Given the description of an element on the screen output the (x, y) to click on. 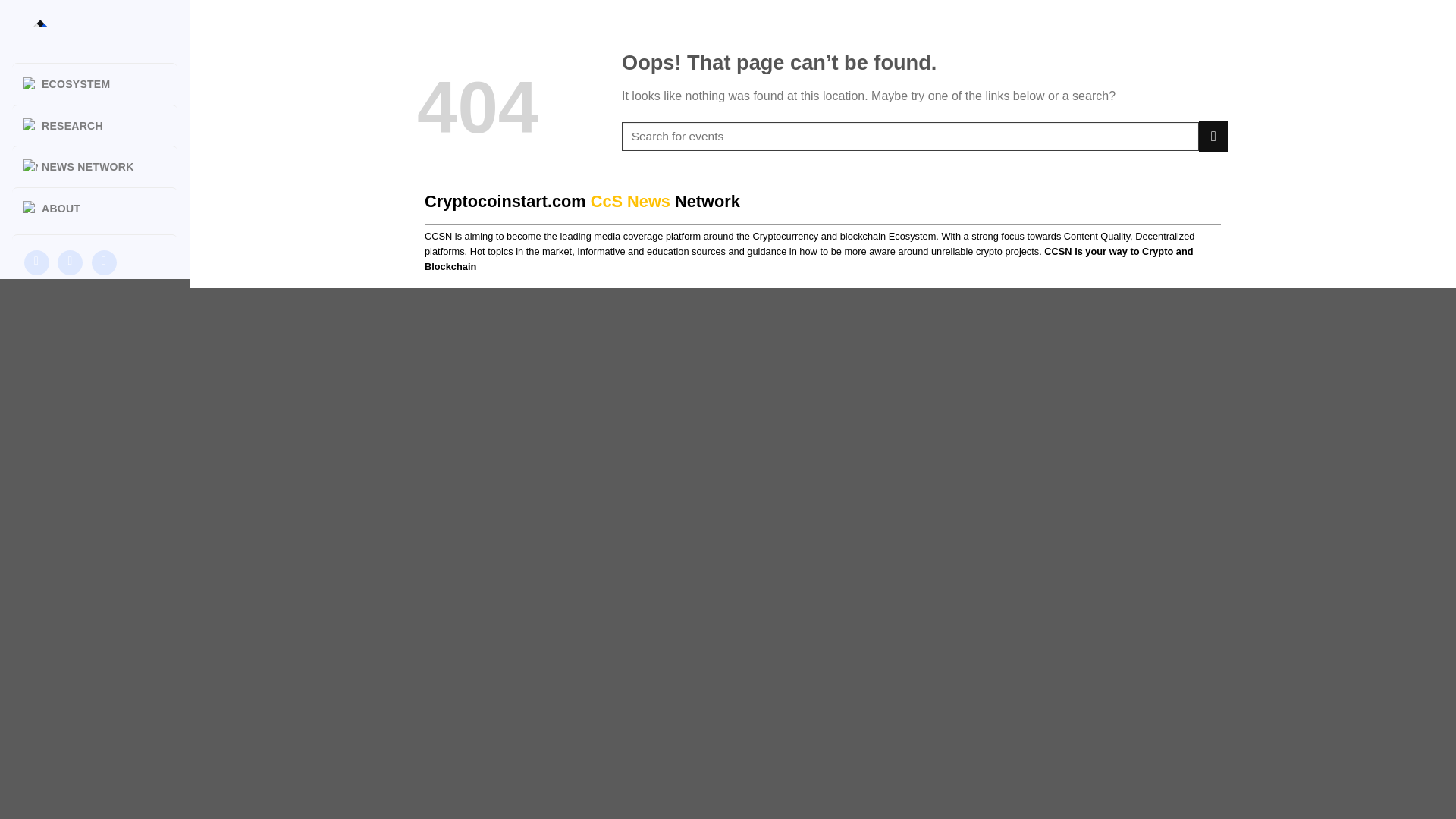
CryptocoinStart - Start your crypto journey with knowledge (100, 29)
Follow on Instagram (36, 262)
Send us an email (103, 262)
RESEARCH (100, 125)
ECOSYSTEM (100, 83)
ABOUT (100, 208)
Follow on Twitter (70, 262)
NEWS NETWORK (100, 166)
